Given the description of an element on the screen output the (x, y) to click on. 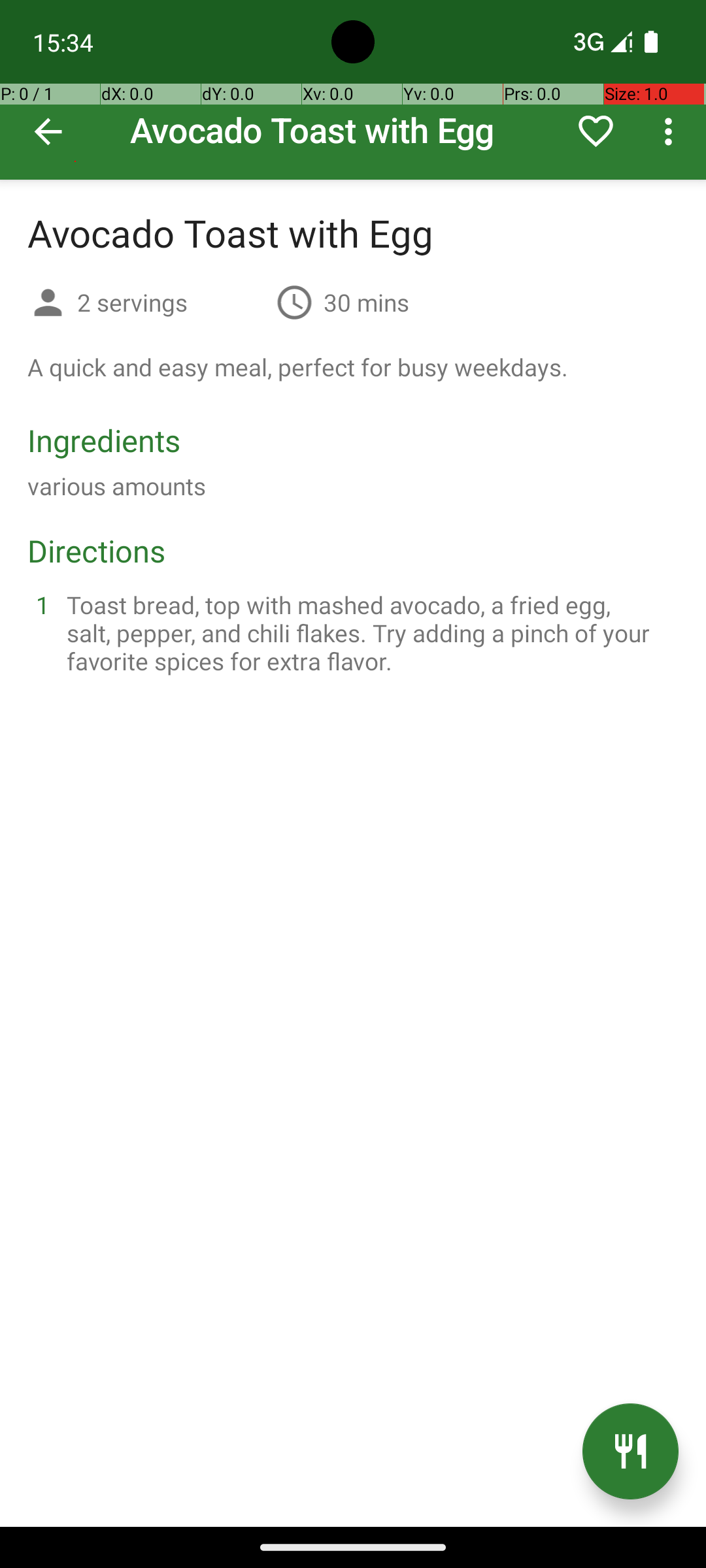
Toast bread, top with mashed avocado, a fried egg, salt, pepper, and chili flakes. Try adding a pinch of your favorite spices for extra flavor. Element type: android.widget.TextView (368, 632)
